Given the description of an element on the screen output the (x, y) to click on. 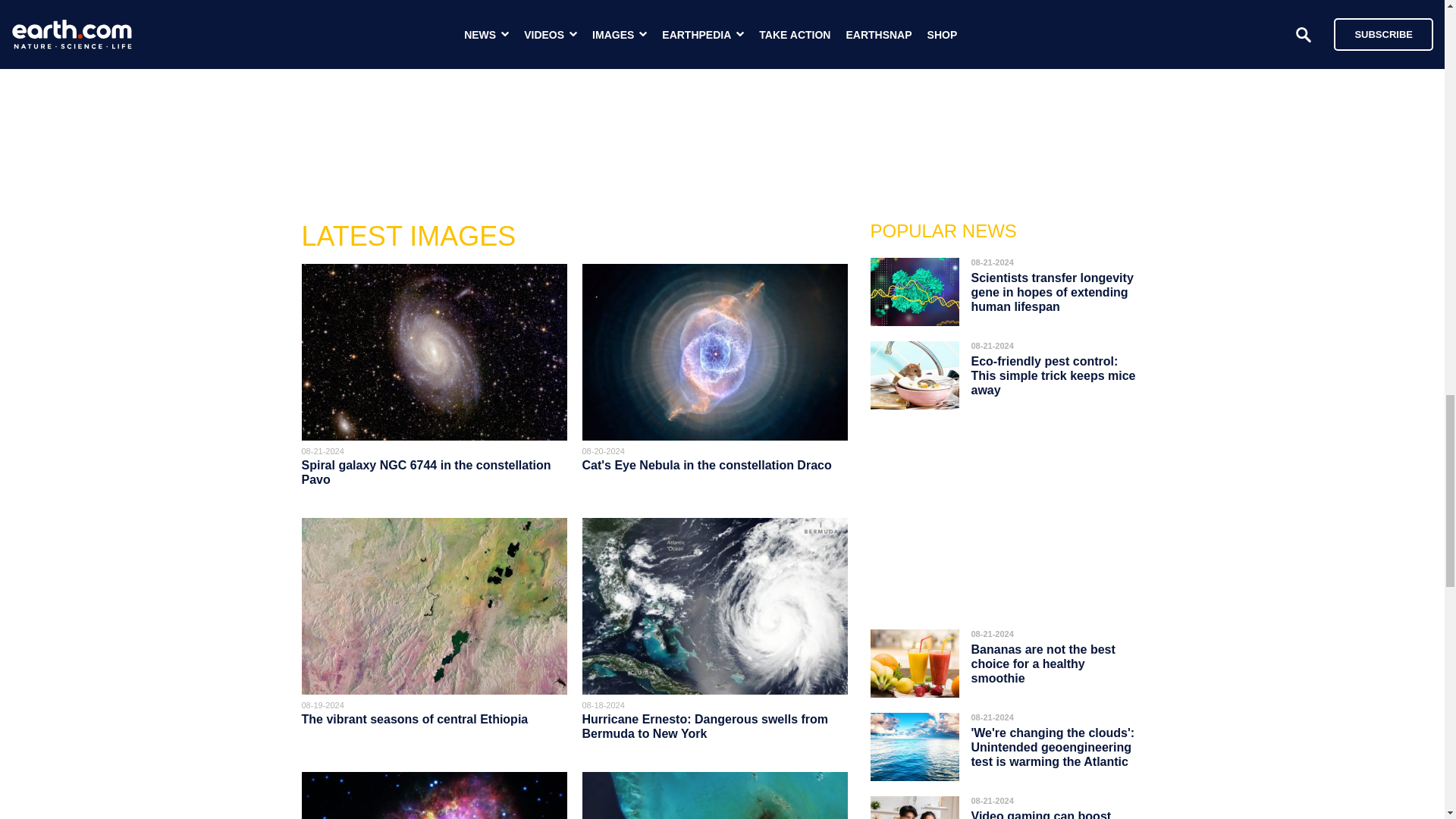
Cat's Eye Nebula in the constellation Draco (706, 464)
Spiral galaxy NGC 6744 in the constellation Pavo (426, 472)
Hurricane Ernesto: Dangerous swells from Bermuda to New York (705, 726)
The vibrant seasons of central Ethiopia (414, 718)
